Given the description of an element on the screen output the (x, y) to click on. 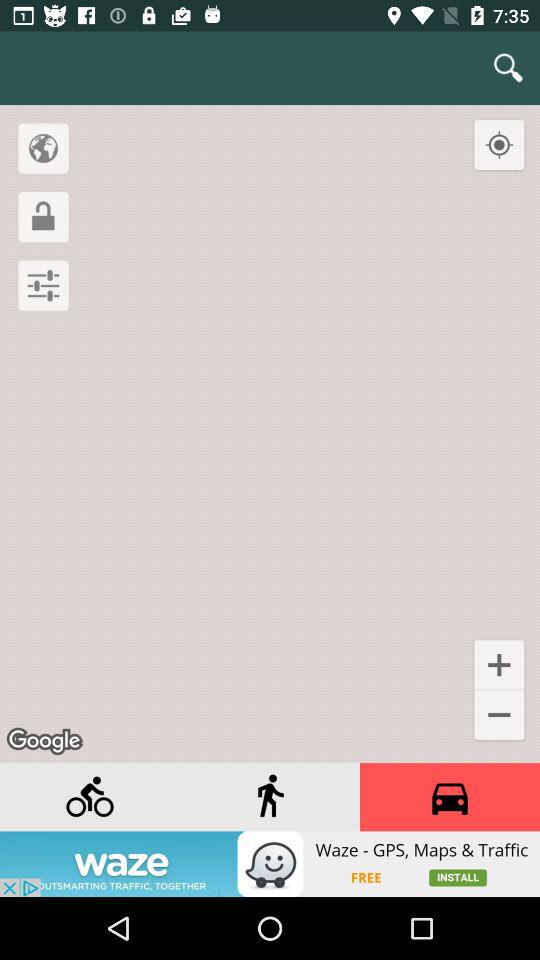
search (508, 67)
